Given the description of an element on the screen output the (x, y) to click on. 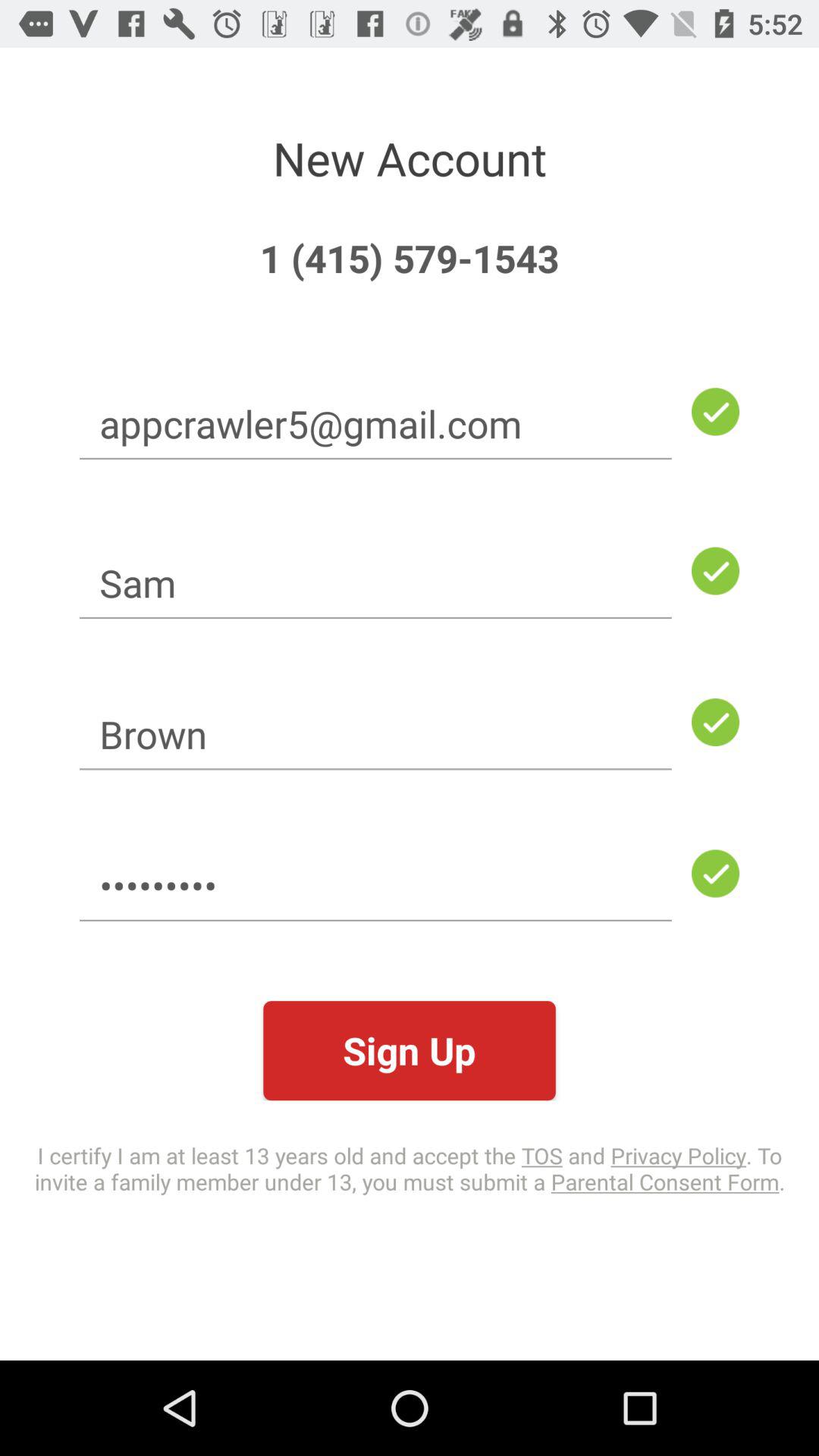
choose the brown icon (375, 734)
